Given the description of an element on the screen output the (x, y) to click on. 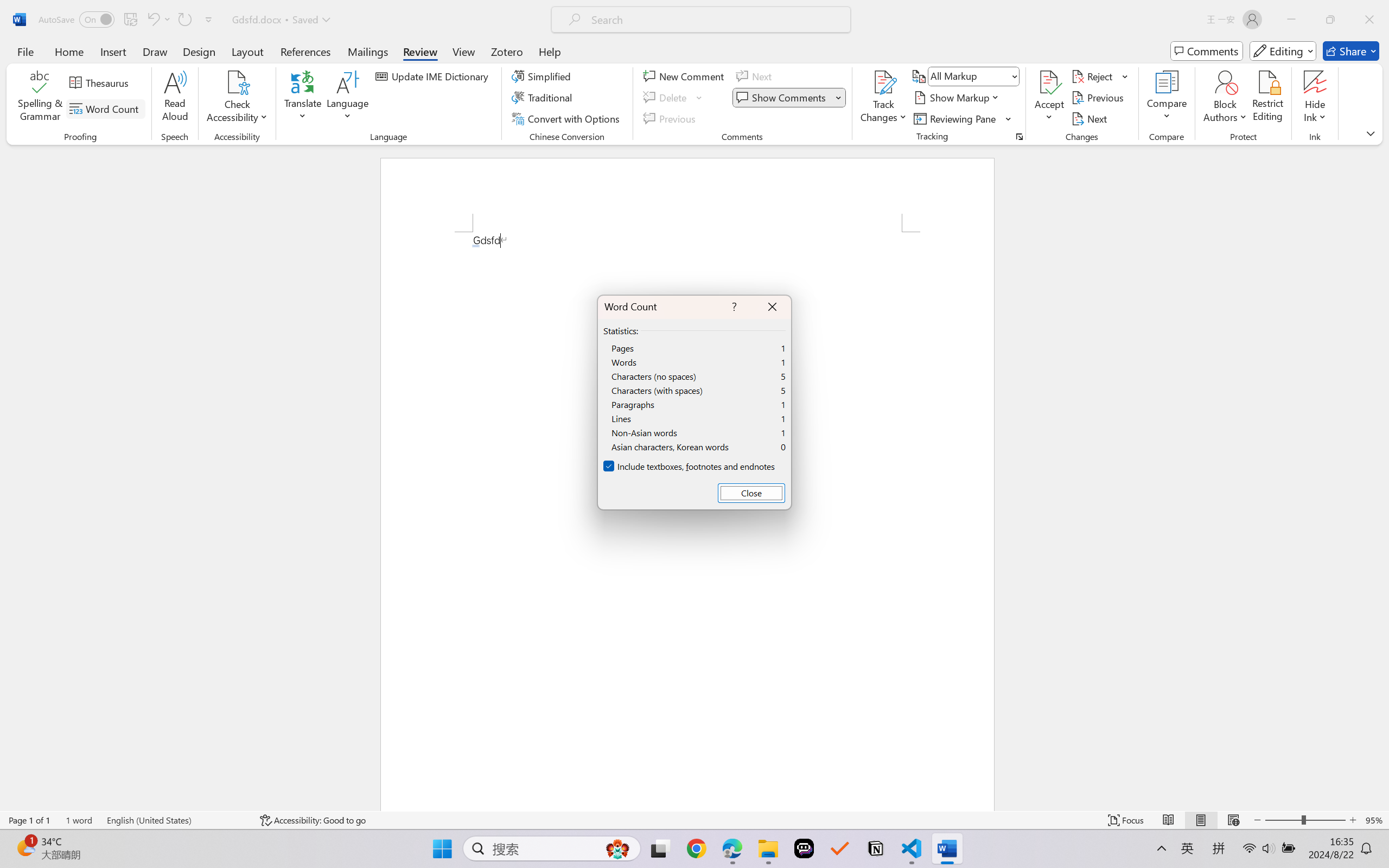
Class: NetUIScrollBar (1382, 477)
Show Markup (957, 97)
Hide Ink (1315, 81)
Hide Ink (1315, 97)
New Comment (685, 75)
Accept and Move to Next (1049, 81)
